Given the description of an element on the screen output the (x, y) to click on. 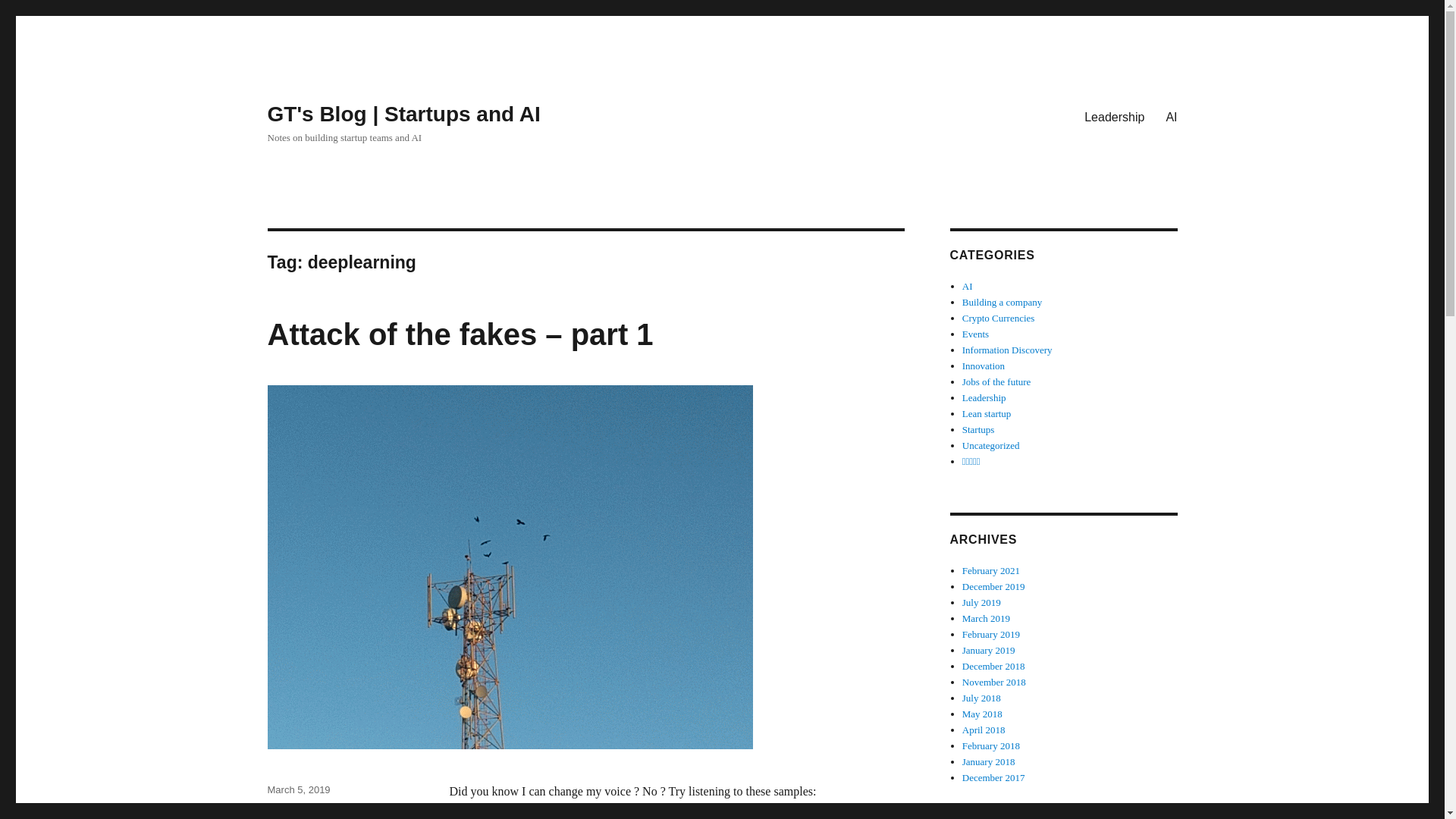
Uncategorized (991, 445)
Uncategorized (298, 810)
AI (1171, 116)
Information Discovery (1007, 349)
Events (975, 333)
Crypto Currencies (998, 317)
December 2019 (993, 586)
Innovation (983, 365)
Leadership (984, 397)
July 2019 (981, 602)
Lean startup (986, 413)
March 2019 (986, 618)
February 2021 (991, 570)
Building a company (1002, 301)
March 5, 2019 (298, 789)
